Given the description of an element on the screen output the (x, y) to click on. 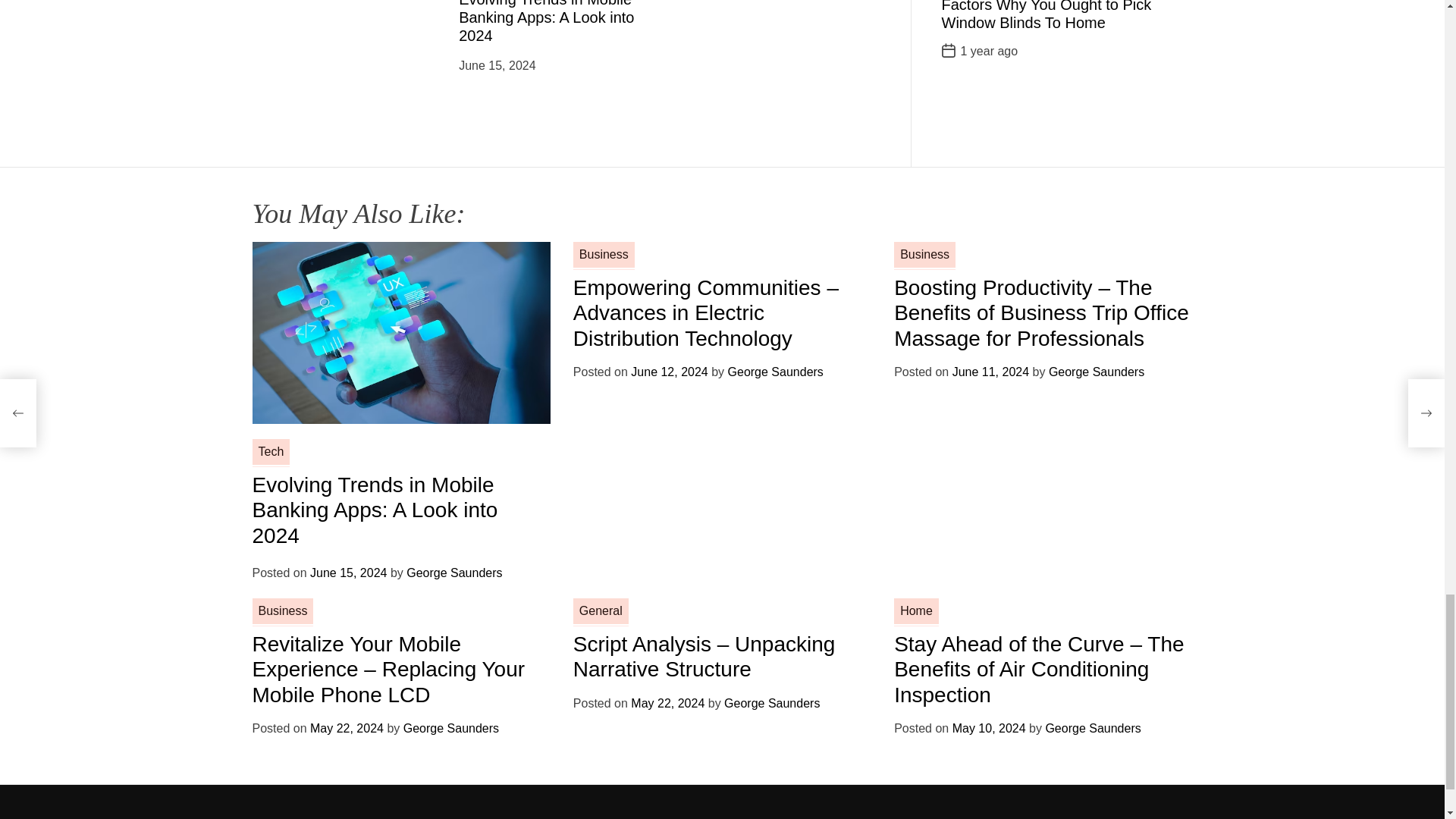
Evolving Trends in Mobile Banking Apps: A Look into 2024 (545, 22)
